Given the description of an element on the screen output the (x, y) to click on. 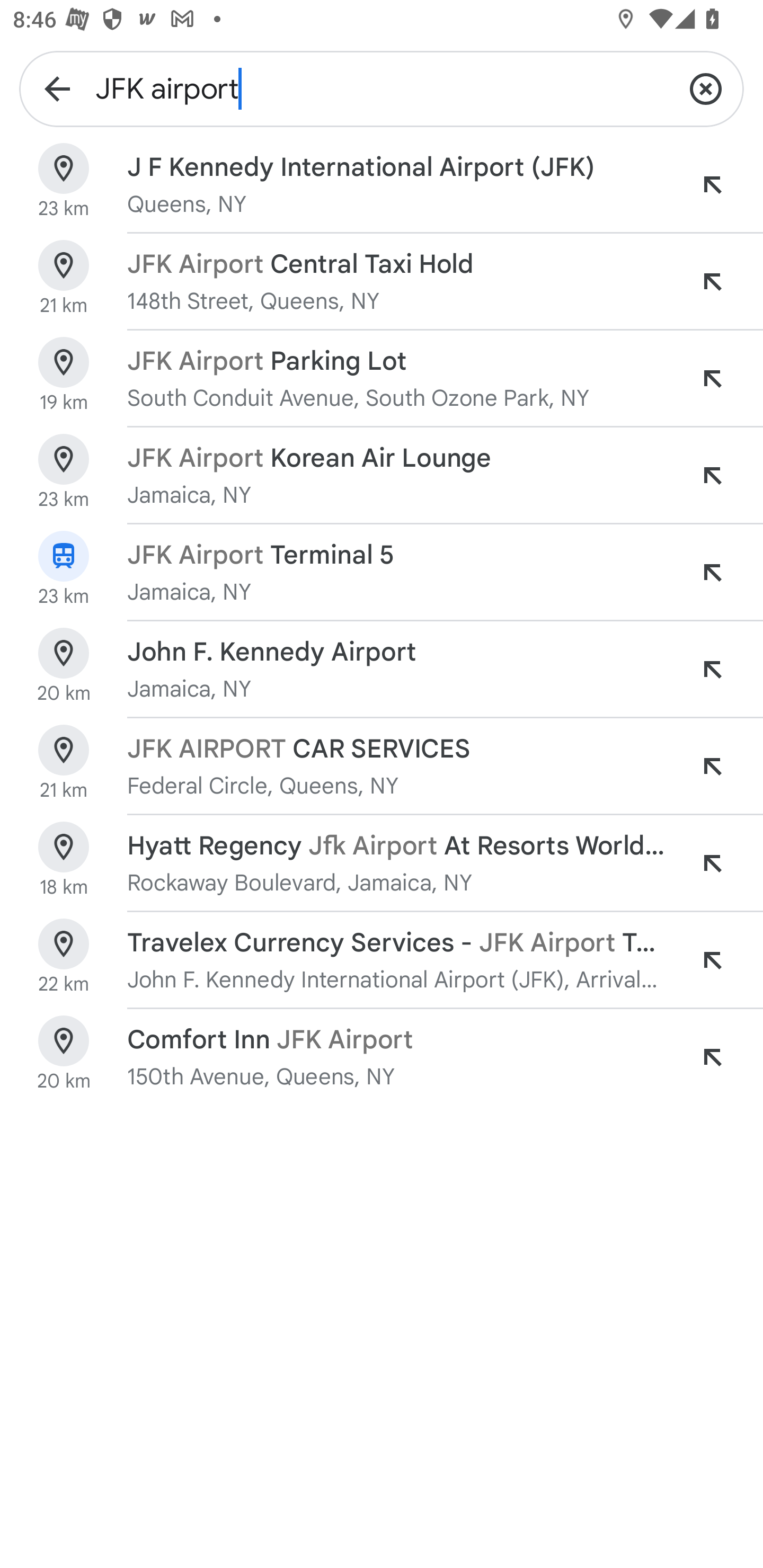
Navigate up (57, 88)
JFK airport (381, 88)
Clear (705, 88)
